Given the description of an element on the screen output the (x, y) to click on. 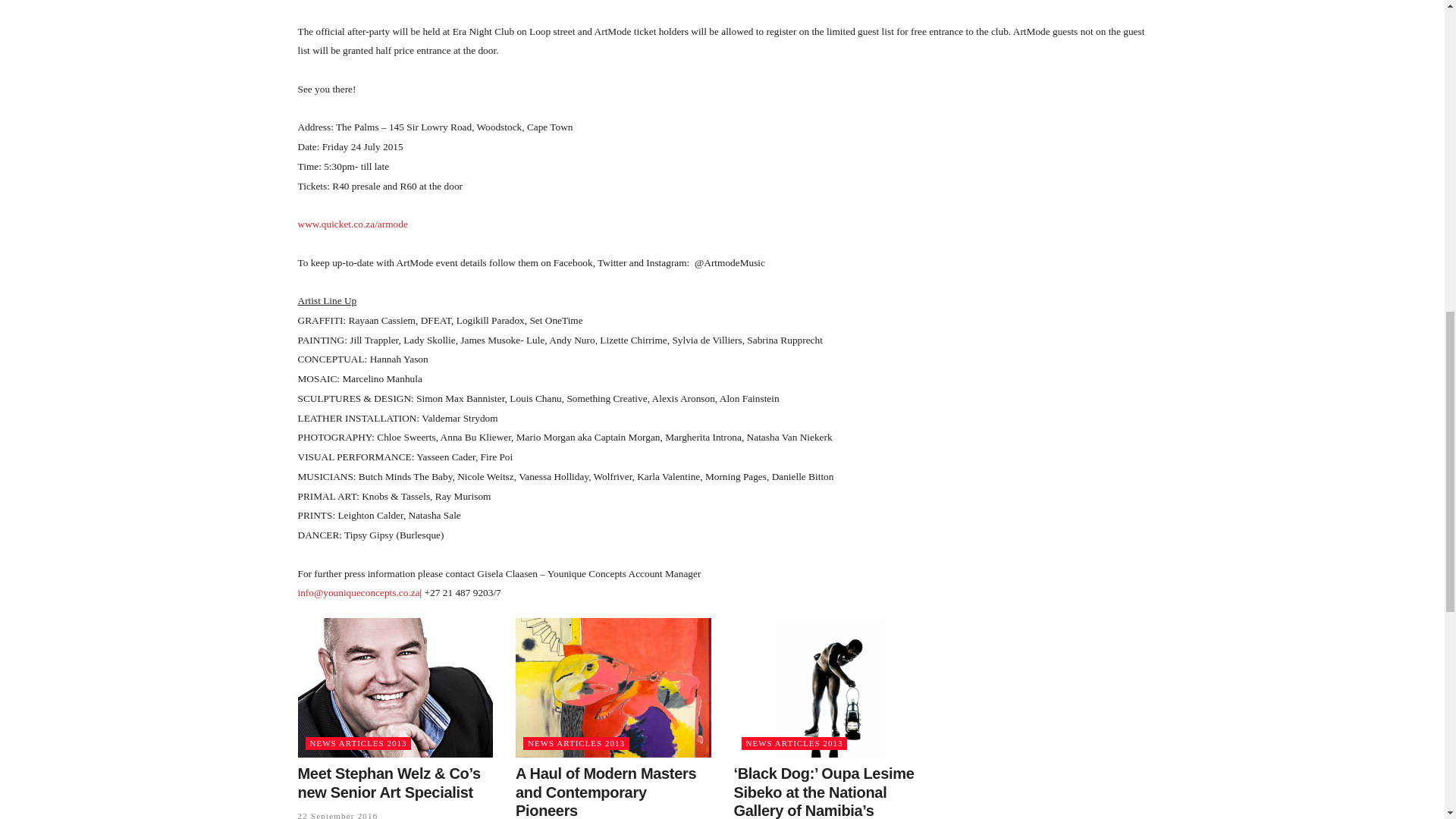
22 September 2016 (337, 815)
A Haul of Modern Masters and Contemporary Pioneers (605, 791)
NEWS ARTICLES 2013 (357, 743)
NEWS ARTICLES 2013 (575, 743)
NEWS ARTICLES 2013 (794, 743)
